Given the description of an element on the screen output the (x, y) to click on. 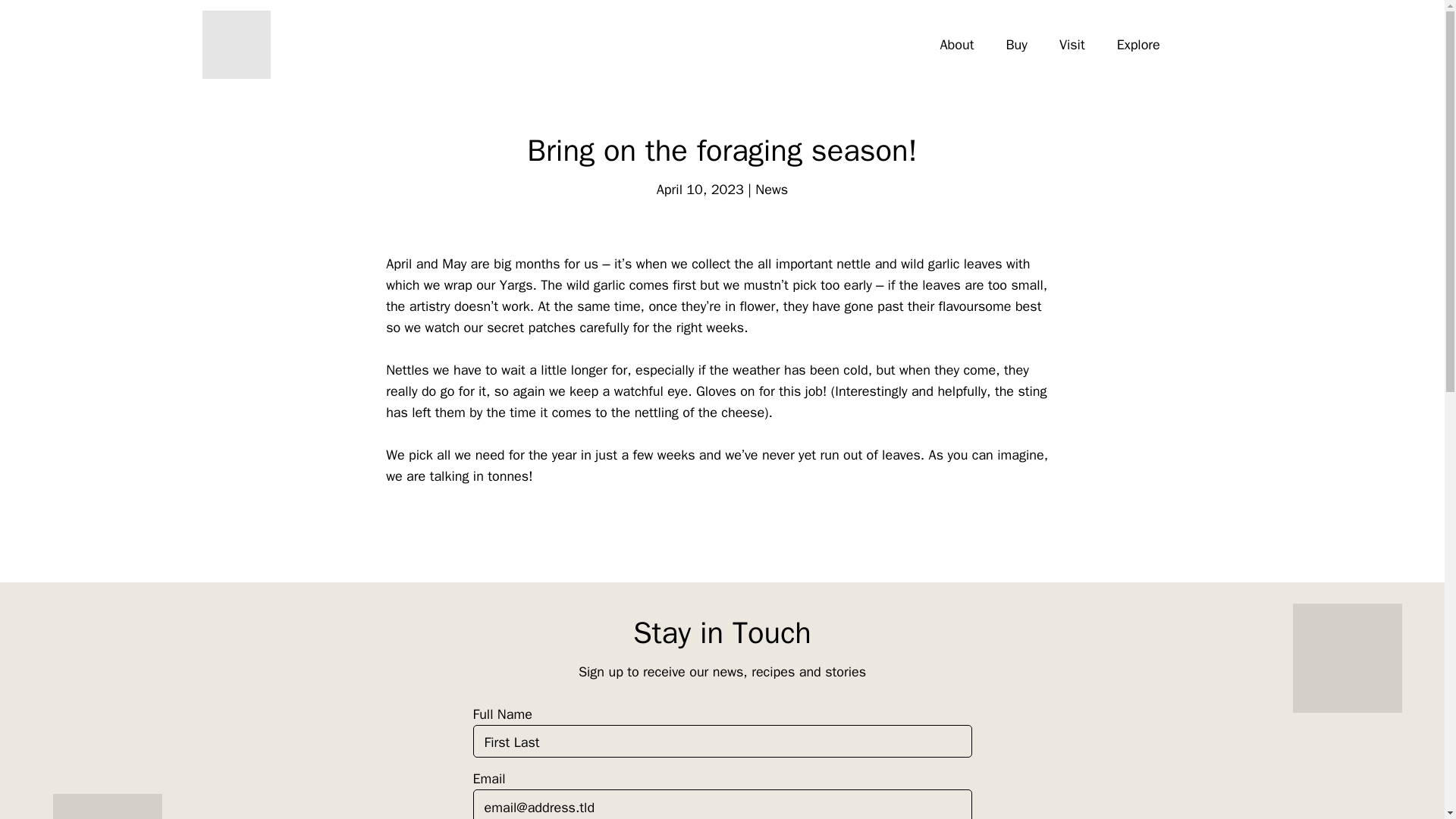
Explore (1138, 44)
About (957, 44)
Buy (1015, 44)
Visit (1072, 44)
